Given the description of an element on the screen output the (x, y) to click on. 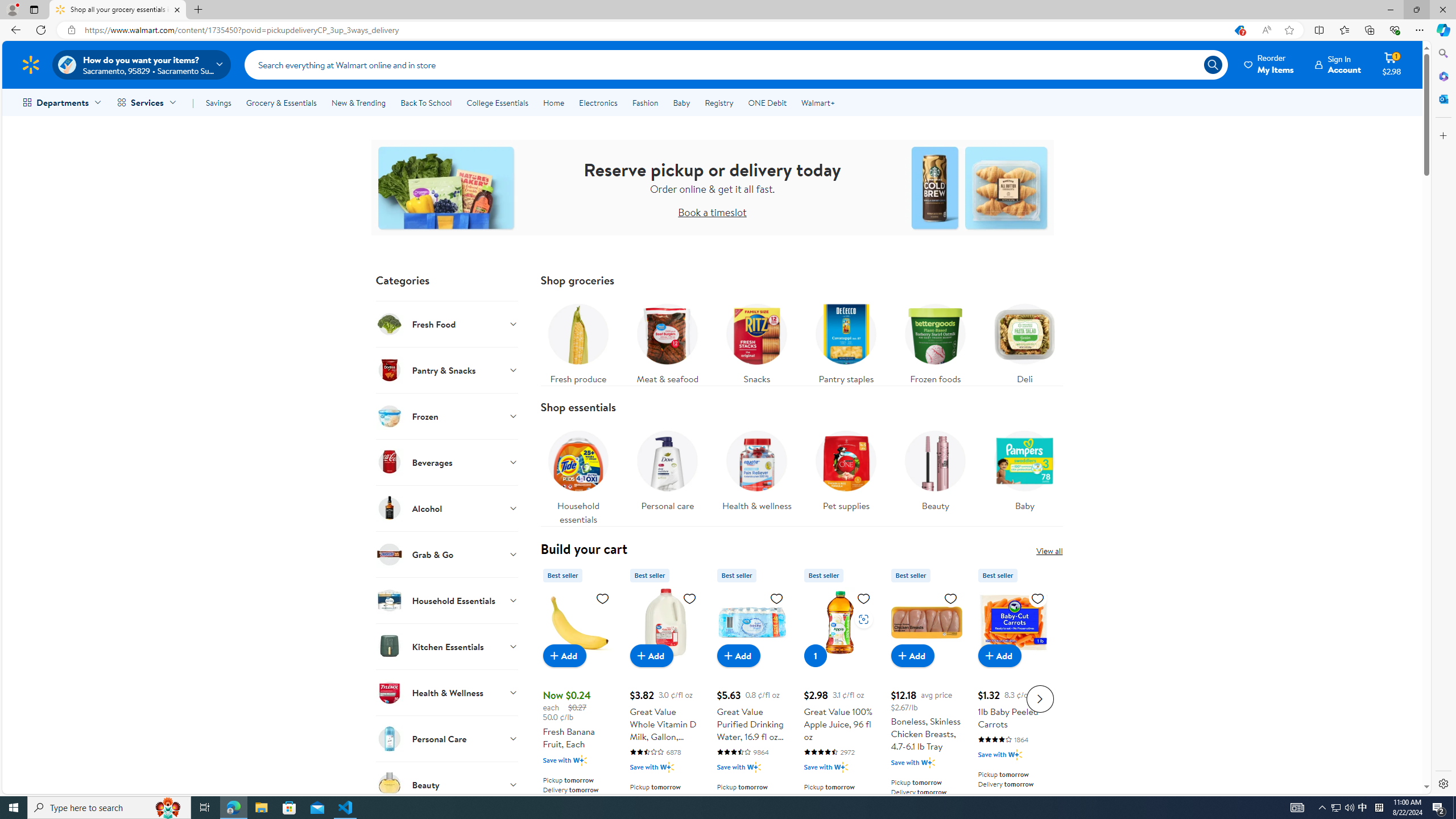
Pantry & Snacks (446, 370)
Personal care (667, 473)
Meat & seafood (667, 340)
Sign in to add to Favorites list, 1lb Baby Peeled Carrots (1036, 597)
Health & Wellness (446, 692)
Beauty (446, 784)
Household essentials (577, 473)
